Given the description of an element on the screen output the (x, y) to click on. 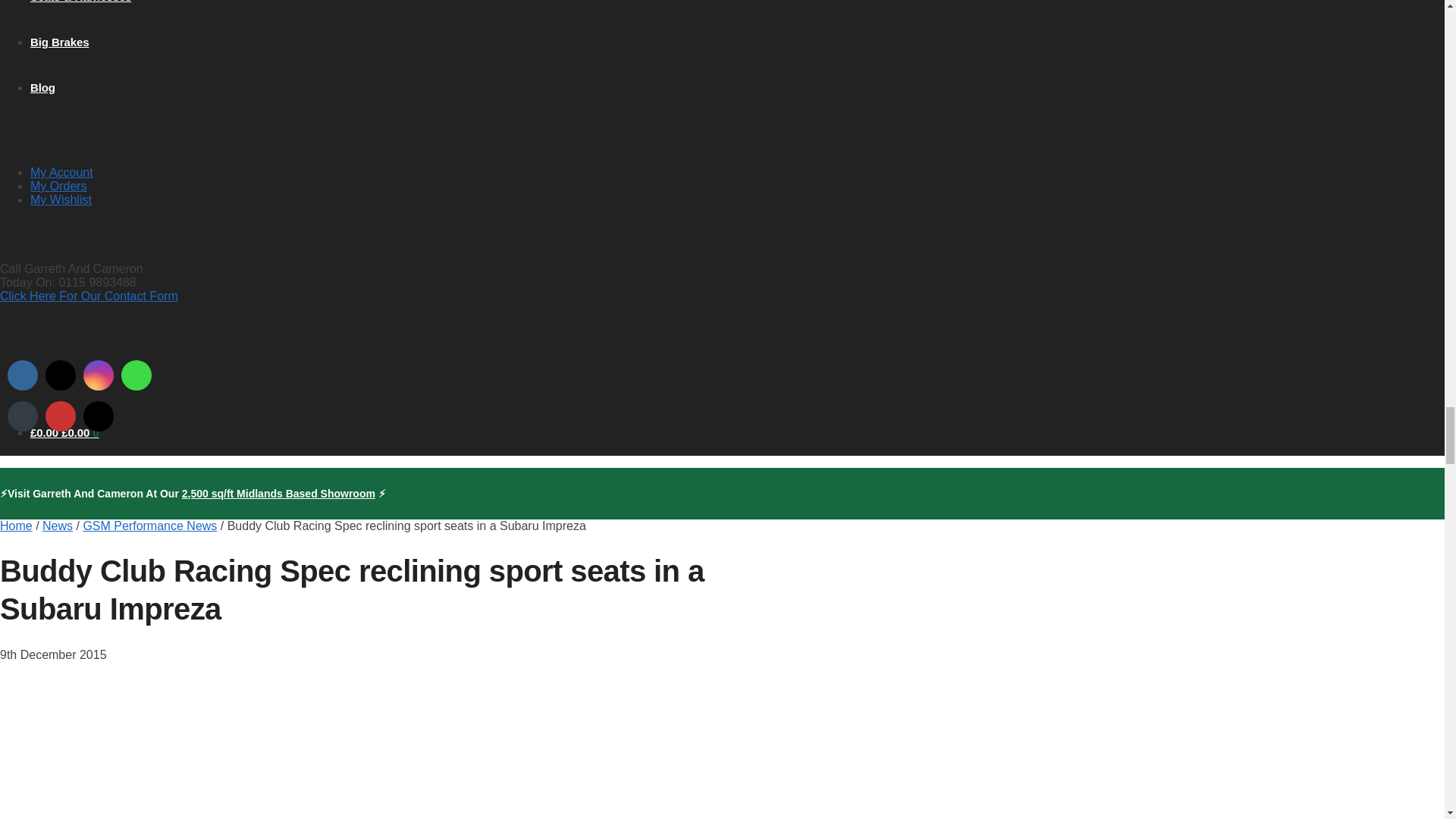
Twitter (60, 375)
With tax added (45, 431)
WhatsApp (136, 375)
Tiktok (98, 416)
View your shopping cart (64, 431)
Instagram (98, 375)
Follow by Email (22, 416)
Facebook (22, 375)
With tax removed (74, 431)
